Given the description of an element on the screen output the (x, y) to click on. 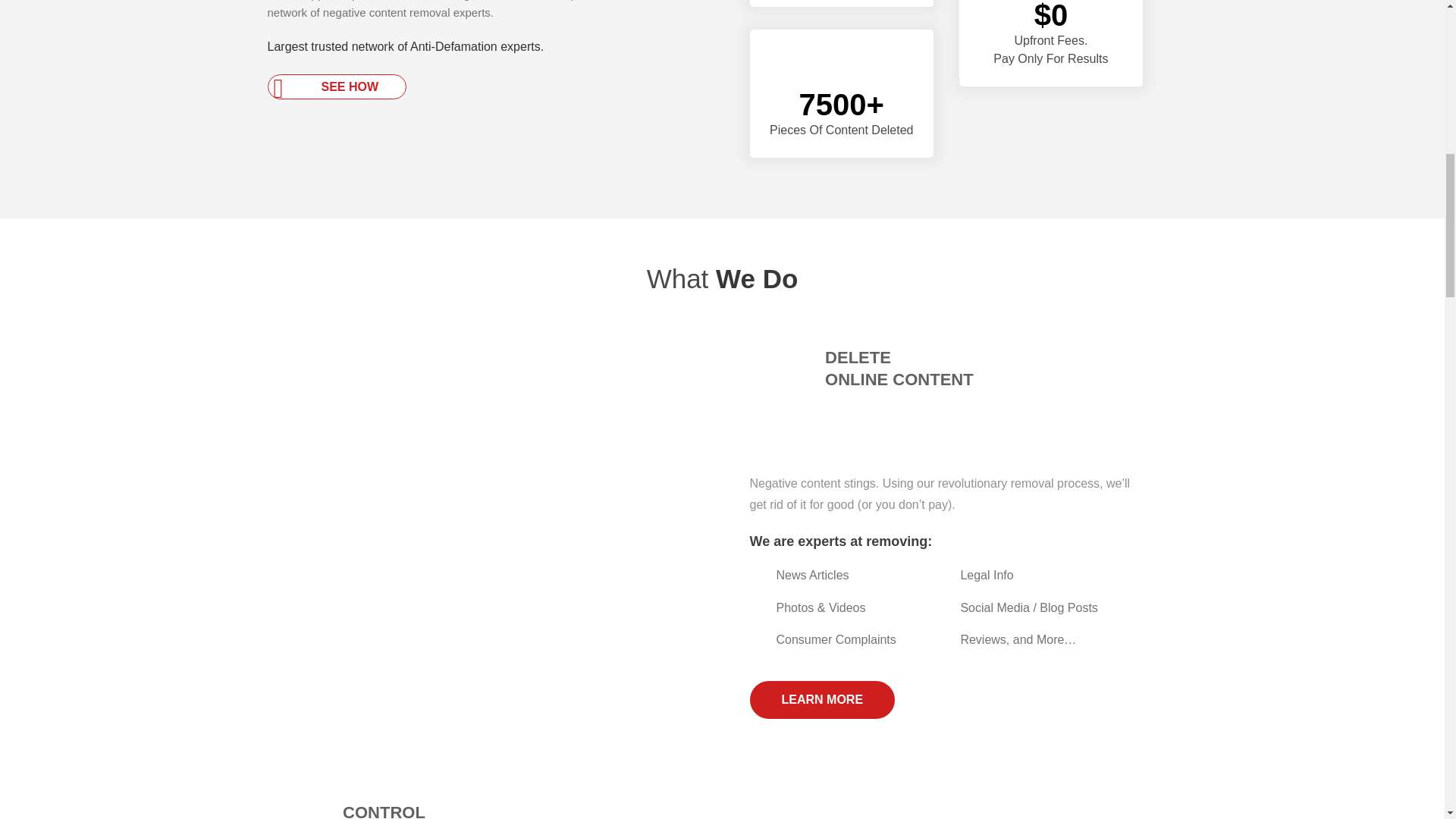
SEE HOW (336, 86)
LEARN MORE (822, 699)
